Given the description of an element on the screen output the (x, y) to click on. 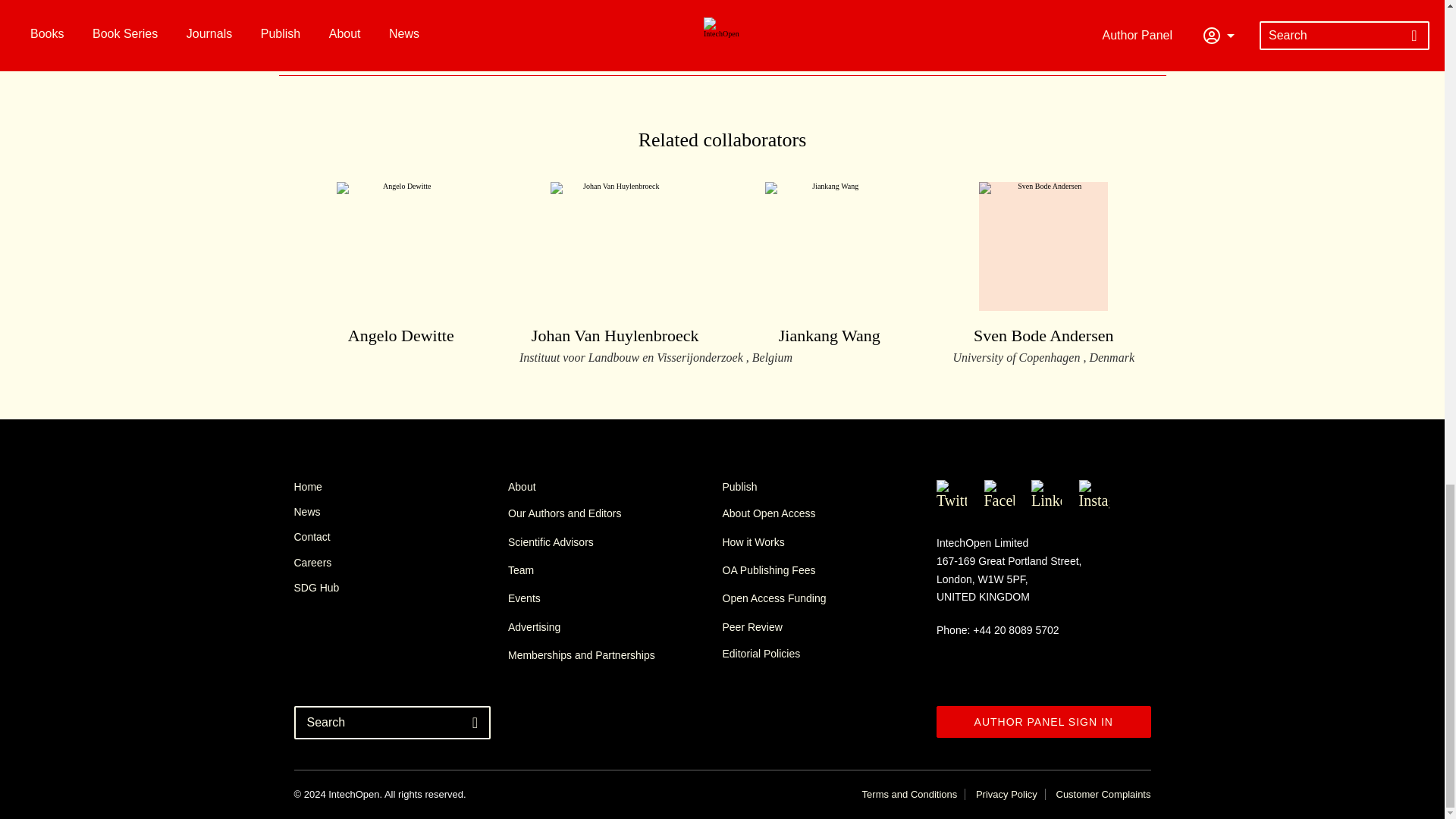
New Perspectives in Forage Crops (593, 15)
Jiankang Wang (829, 265)
SDG Hub (401, 587)
Angelo Dewitte (401, 265)
News (401, 511)
Careers (401, 562)
Contact (1043, 273)
Home (401, 536)
